Given the description of an element on the screen output the (x, y) to click on. 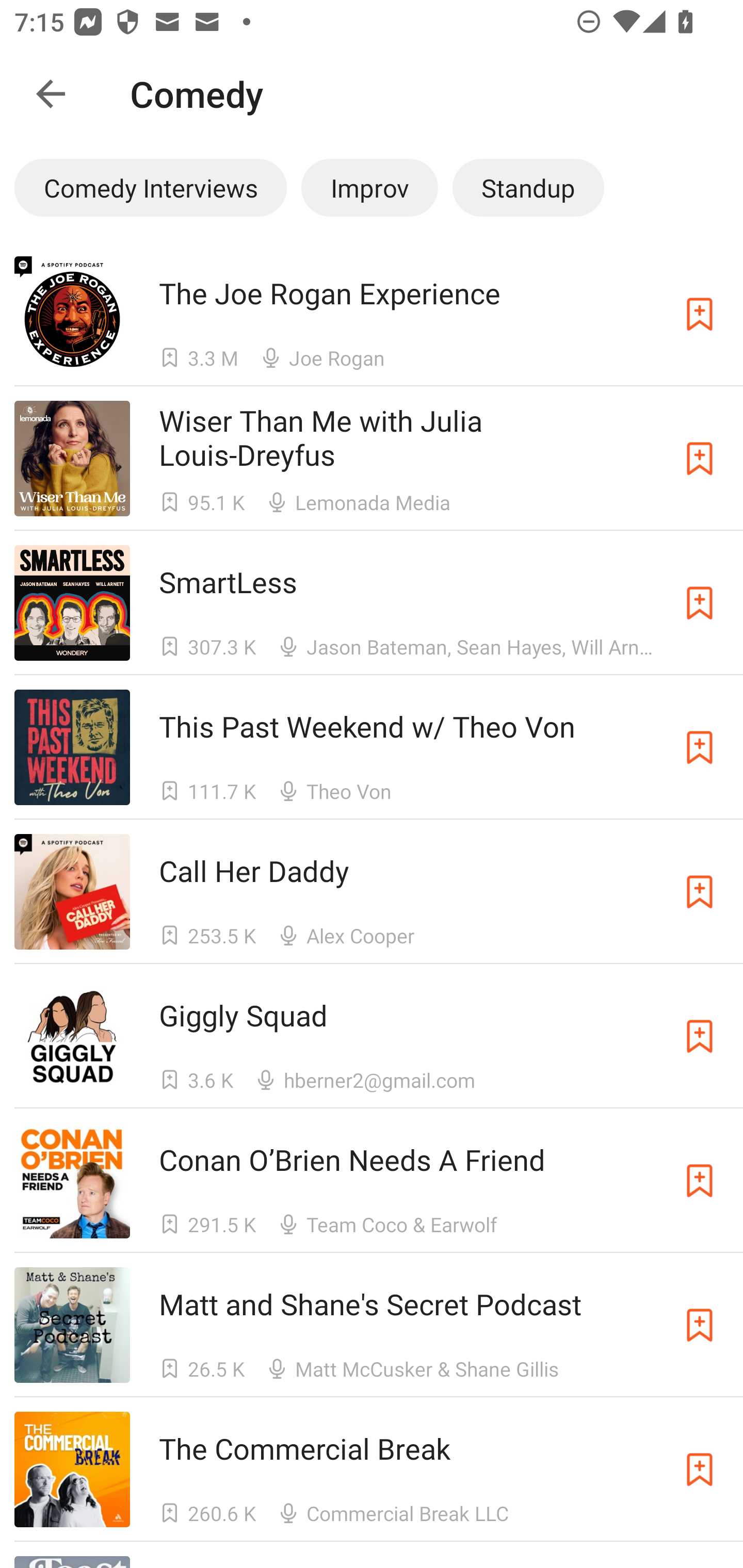
Navigate up (50, 93)
Comedy Interviews (150, 187)
Improv (369, 187)
Standup (528, 187)
Subscribe (699, 313)
Subscribe (699, 458)
Subscribe (699, 602)
Subscribe (699, 746)
Subscribe (699, 892)
Subscribe (699, 1036)
Subscribe (699, 1180)
Subscribe (699, 1324)
Subscribe (699, 1469)
